Given the description of an element on the screen output the (x, y) to click on. 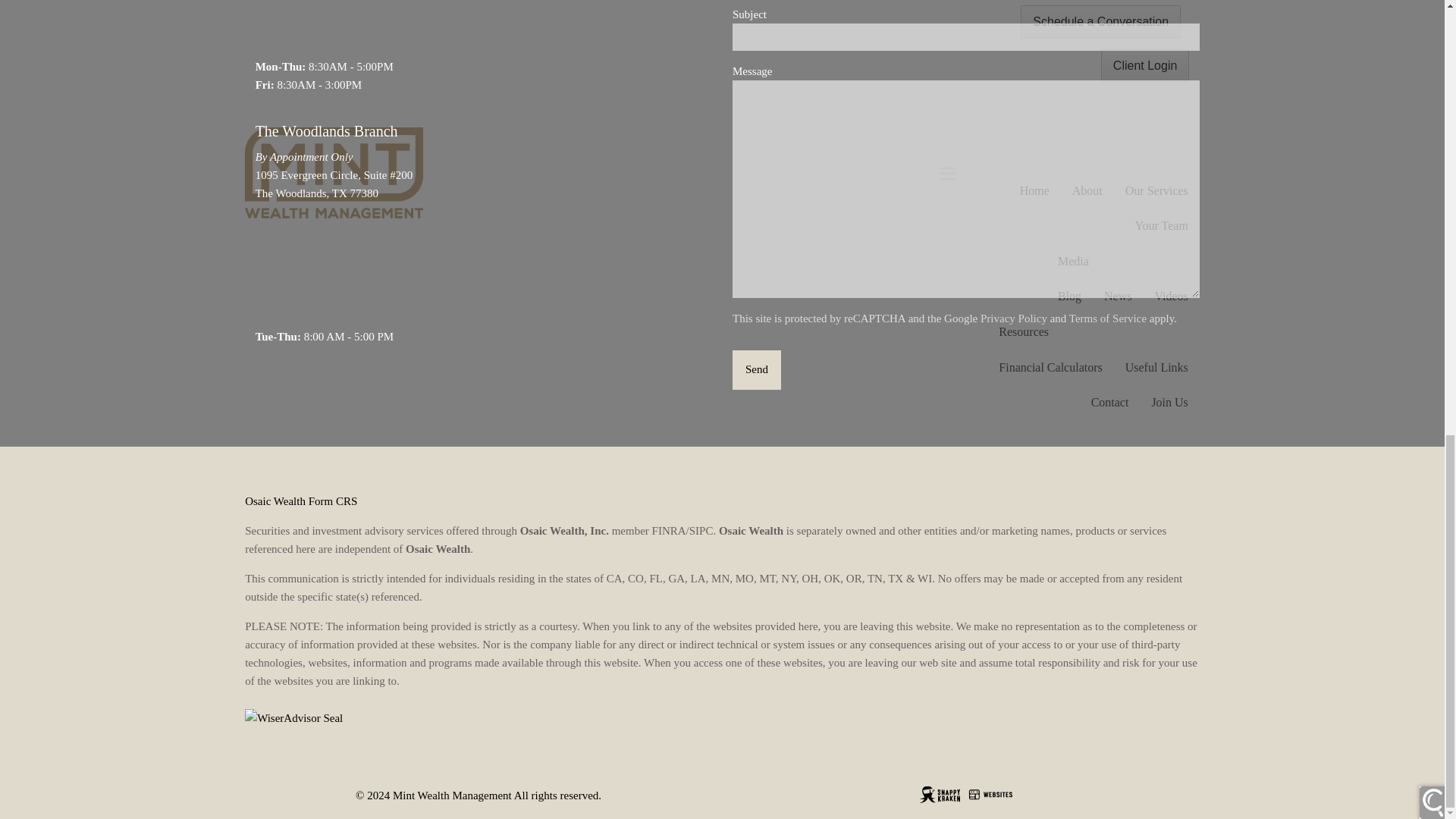
Terms of Service (1107, 318)
Send (756, 369)
Send (756, 369)
Privacy Policy (1012, 318)
Osaic Wealth Form CRS (300, 500)
